Given the description of an element on the screen output the (x, y) to click on. 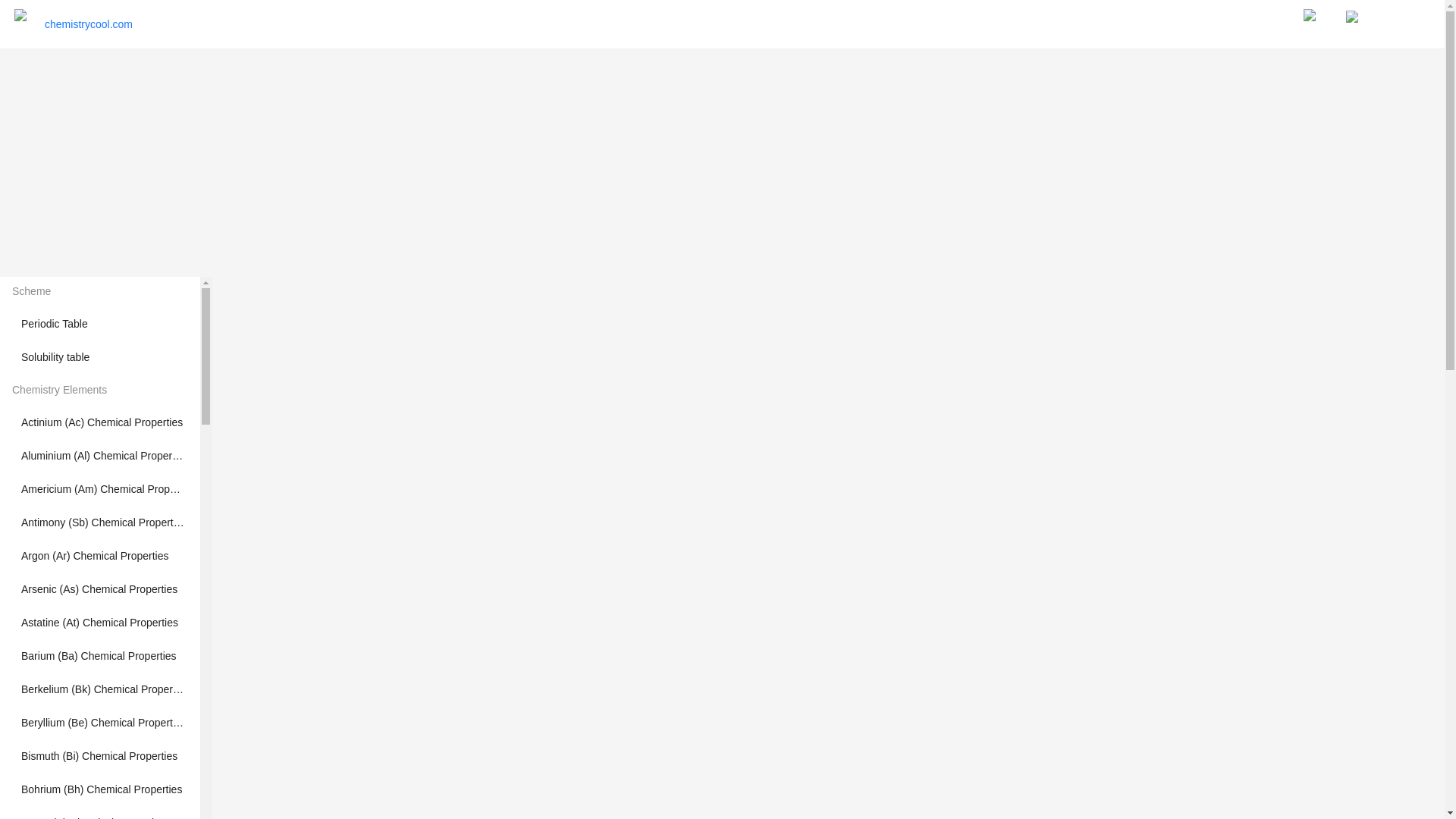
Scheme (100, 290)
Chemistry Elements (100, 389)
Periodic Table (54, 323)
chemistrycool.com (88, 24)
Solubility table (54, 357)
